Given the description of an element on the screen output the (x, y) to click on. 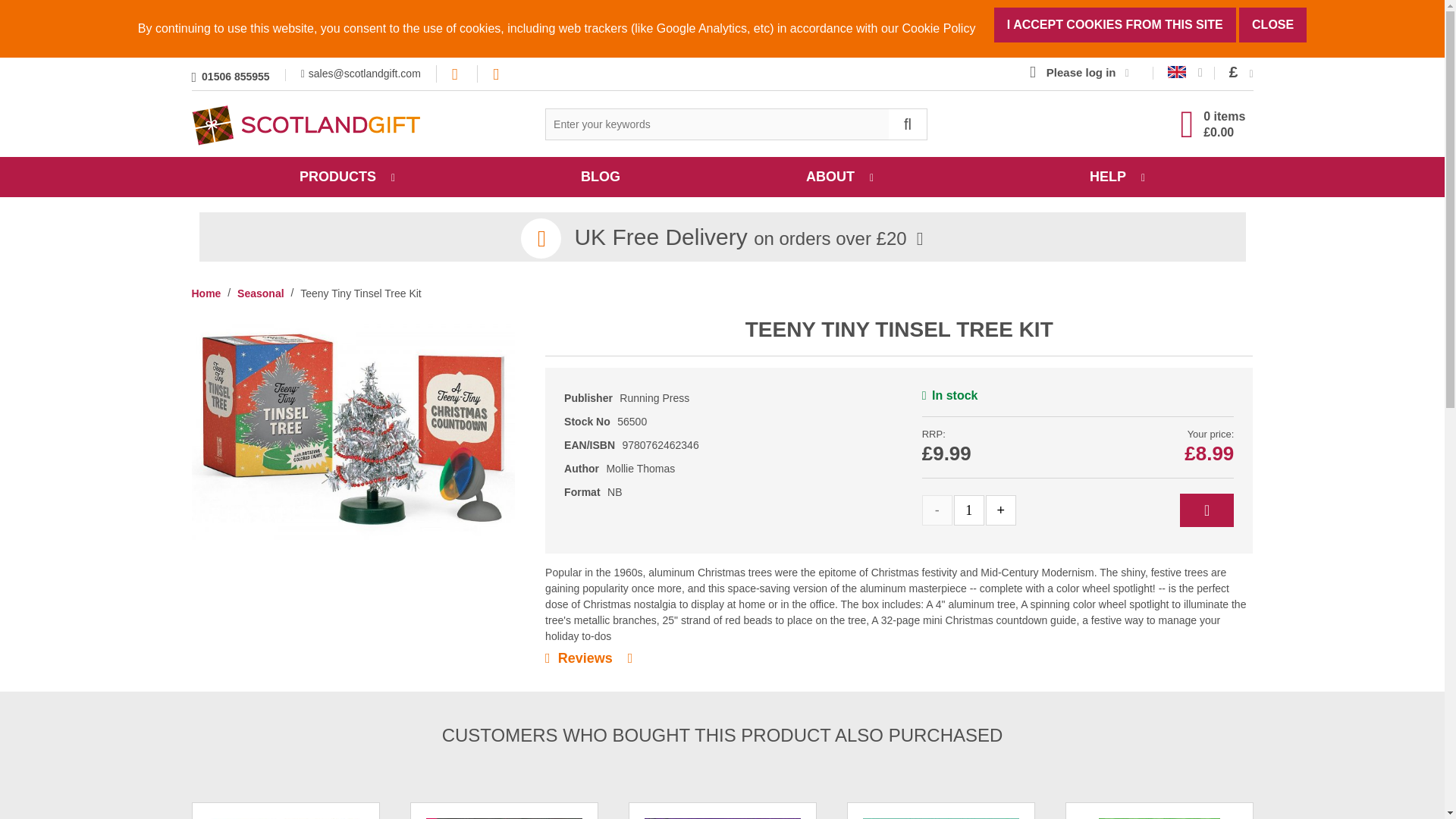
Please log in (1079, 72)
1 (968, 510)
Running Press (654, 398)
English (1176, 71)
01506 855955 (229, 75)
